Given the description of an element on the screen output the (x, y) to click on. 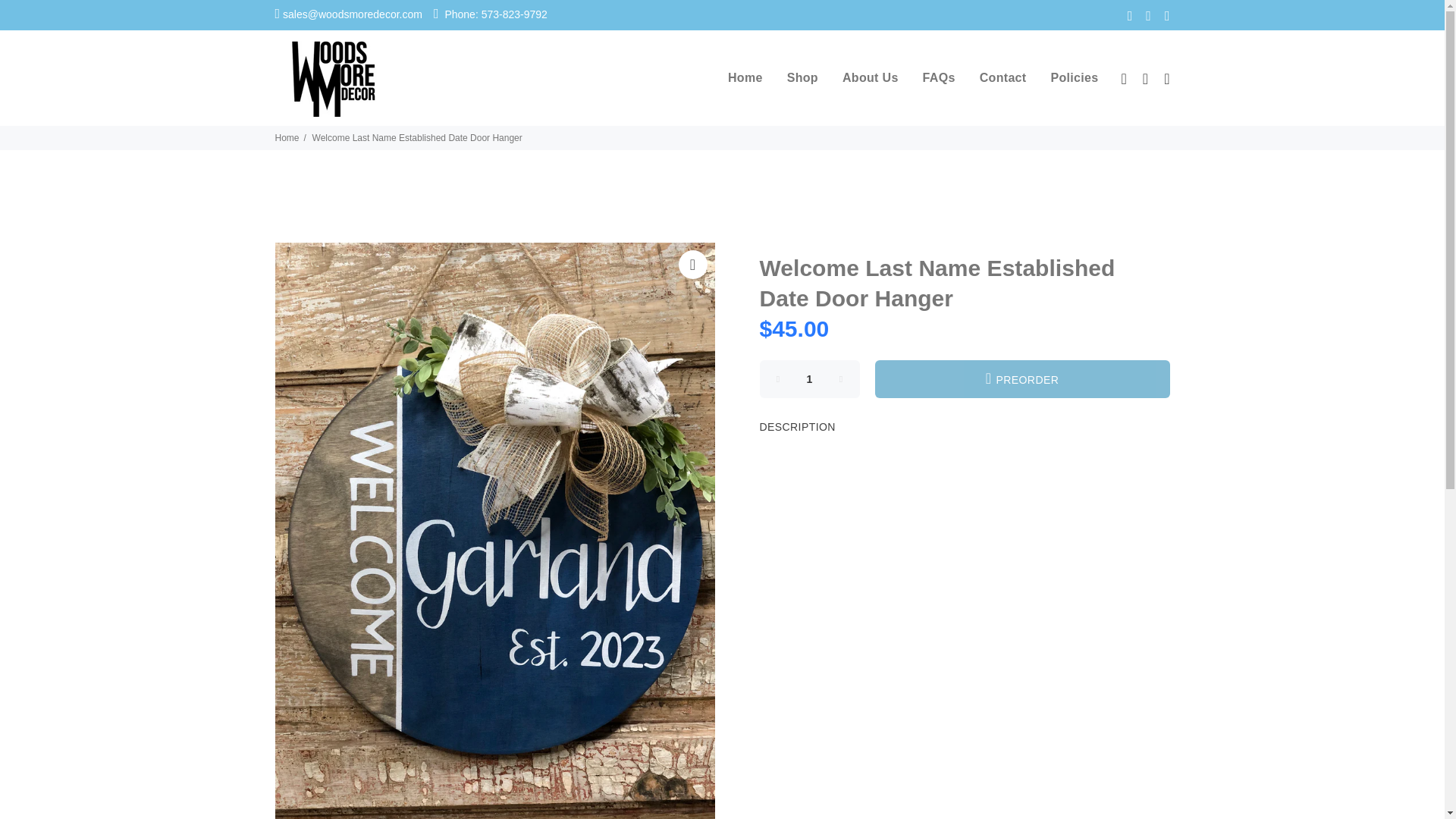
Contact (1003, 77)
Home (746, 77)
Shop (801, 77)
Home (286, 137)
Policies (1067, 77)
PREORDER (1022, 379)
About Us (870, 77)
FAQs (939, 77)
1 (810, 379)
